Given the description of an element on the screen output the (x, y) to click on. 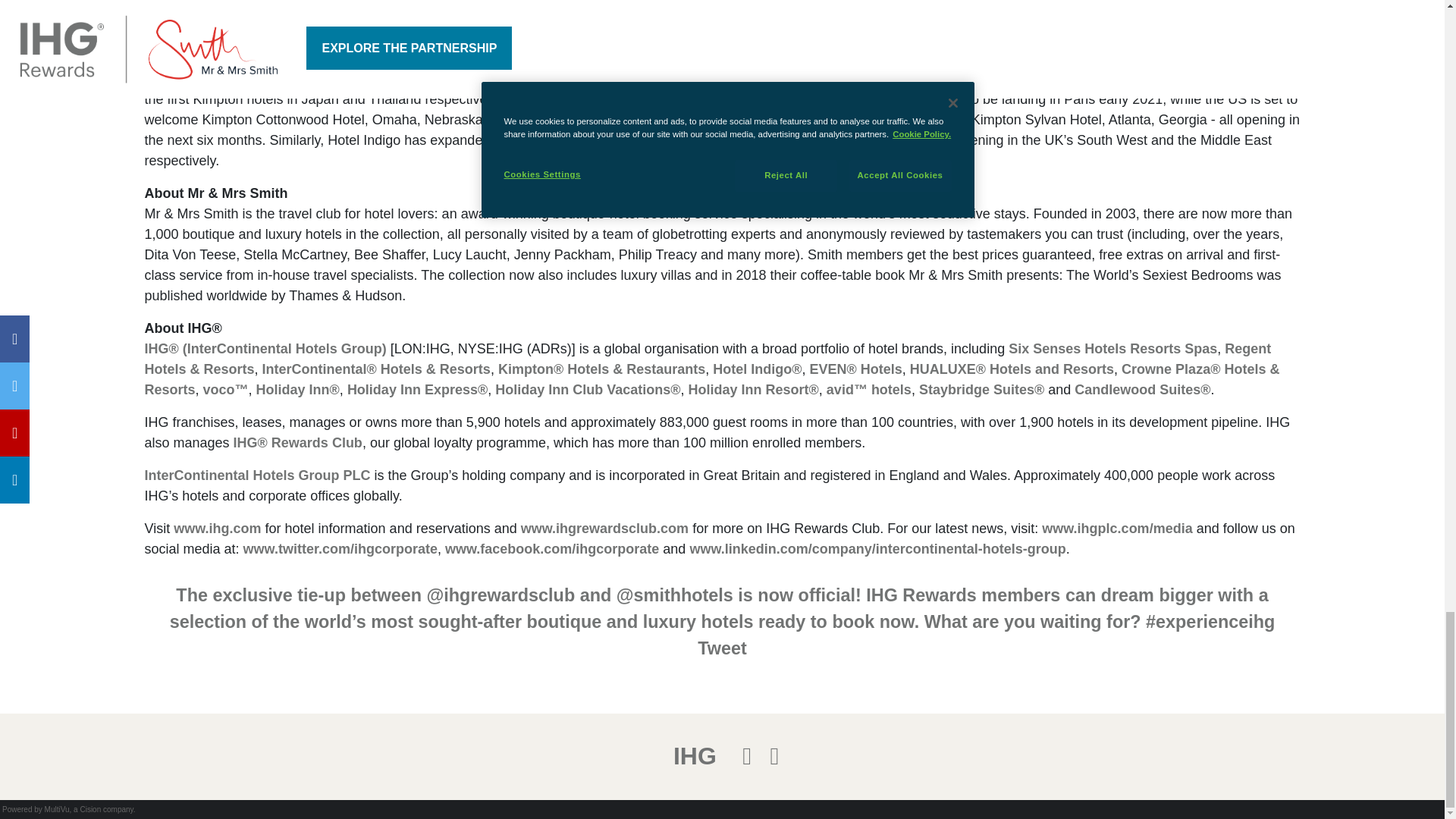
Six Senses Shaharut (470, 37)
Dubai (826, 140)
Six Senses Shaharut (470, 37)
www.ihg.com (216, 528)
Six Senses Hotels Resorts Spas (1113, 348)
Six Senses Fort Barwara (1028, 37)
Kimpton Shinjuku Tokyo and Kimpton Maa-Lai Bangkok (1110, 78)
Six Senses Hotels Resorts Spas (1113, 348)
exciting global openings (1070, 58)
Six Senses Fort Barwara (1028, 37)
Bath (747, 140)
exciting global openings (1070, 58)
Dubai (826, 140)
InterContinental Hotels Group PLC (256, 475)
Kimpton Shinjuku Tokyo and Kimpton Maa-Lai Bangkok (1110, 78)
